Given the description of an element on the screen output the (x, y) to click on. 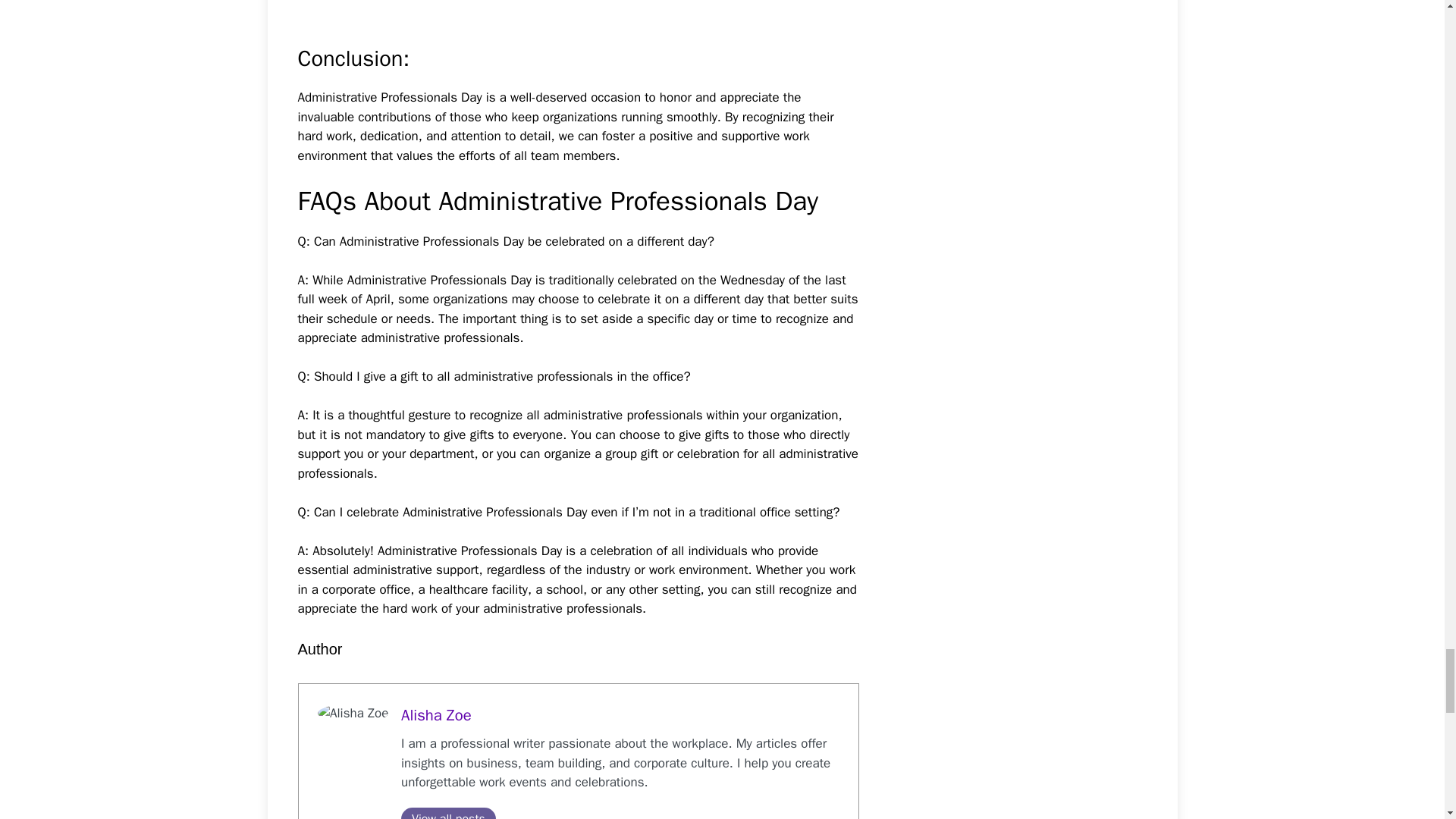
View all posts (448, 813)
View all posts (448, 813)
Alisha Zoe (436, 714)
Alisha Zoe (436, 714)
